Given the description of an element on the screen output the (x, y) to click on. 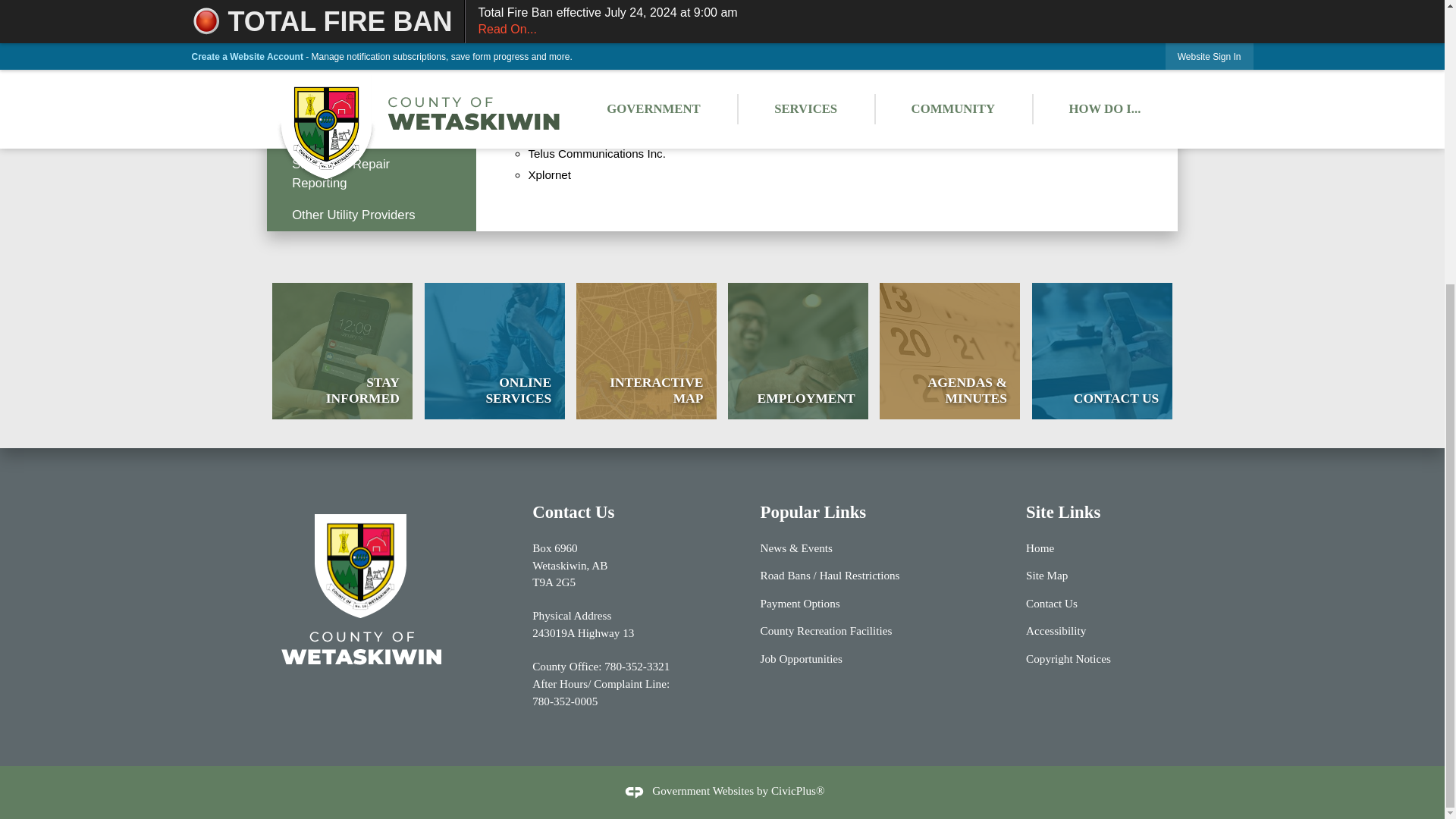
Utility Billing (371, 7)
Streetlight Repair Reporting (371, 173)
Utilities Consumer Advocate (1011, 14)
County of Wetaskiwin (361, 589)
CONTACT US (646, 350)
780-352-0005 (1102, 350)
Payment Options (564, 700)
Other Utility Providers (800, 603)
Recycling Roundup (371, 214)
780-352-3321 (371, 132)
EMPLOYMENT (494, 350)
Popular Links (636, 666)
